Given the description of an element on the screen output the (x, y) to click on. 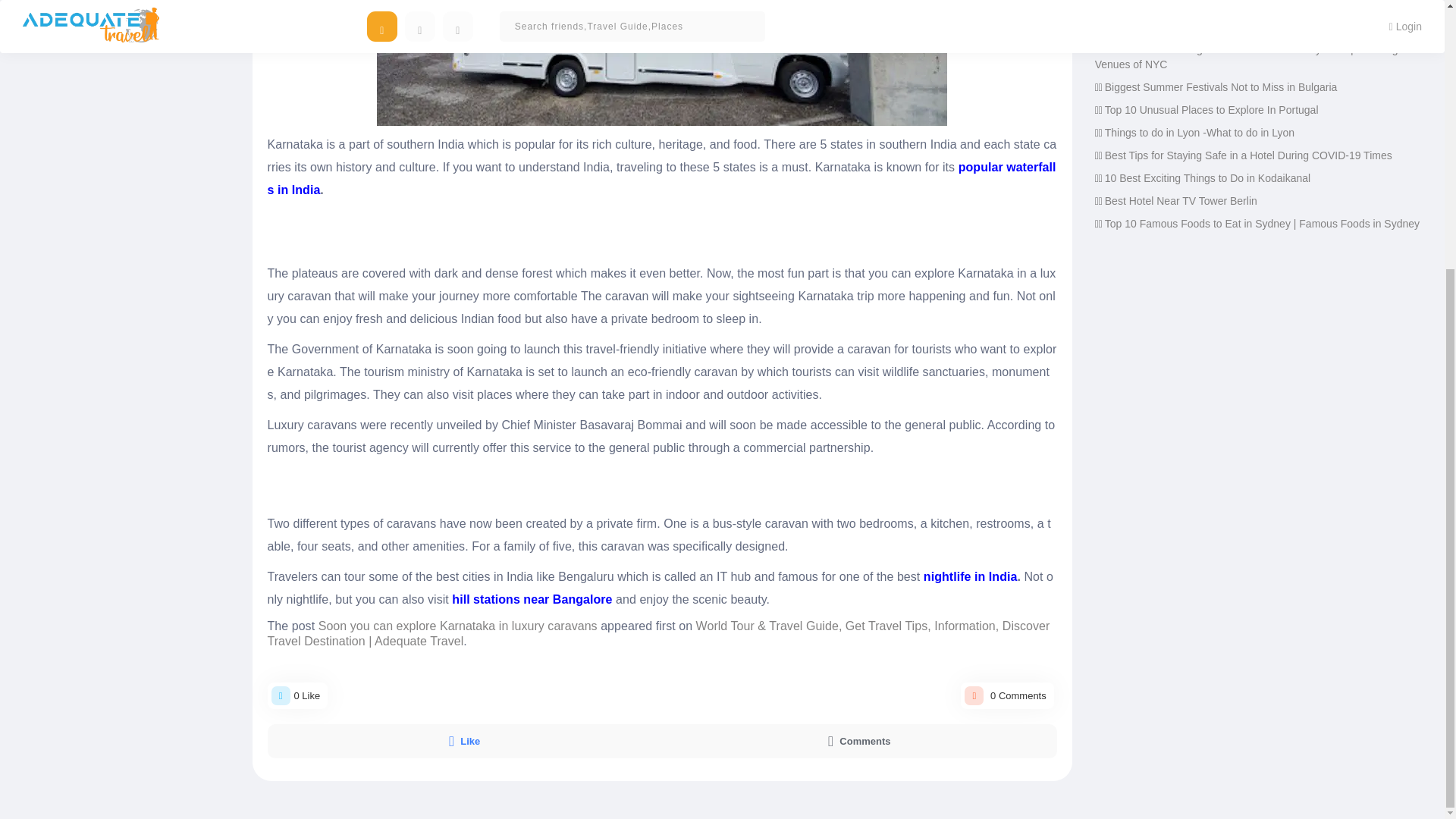
10 Best Exciting Things to Do in Kodaikanal (1207, 177)
popular waterfalls in India (660, 178)
Things to do in Lyon -What to do in Lyon (1199, 132)
Top 10 Unusual Places to Explore In Portugal (1212, 110)
nightlife in India (970, 576)
Best Tips for Staying Safe in a Hotel During COVID-19 Times (1248, 155)
Soon you can explore Karnataka in luxury caravans (457, 625)
Hangout at 12 Gorgeous beaches in Scotland-near major cities (1252, 26)
Best Hotel Near TV Tower Berlin (1181, 200)
hill stations near Bangalore (531, 599)
